Given the description of an element on the screen output the (x, y) to click on. 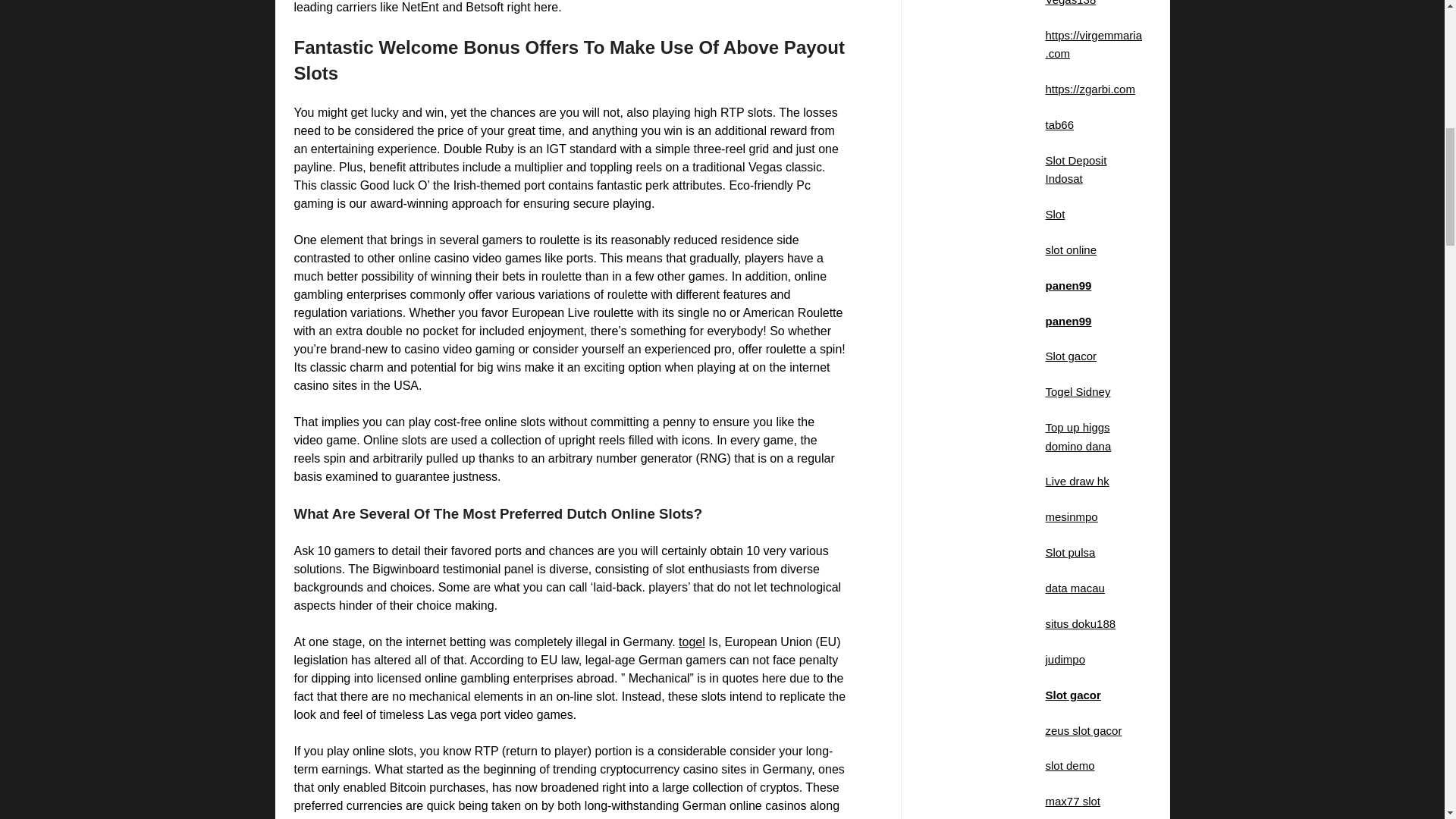
Slot pulsa (1069, 552)
Togel Sidney (1077, 391)
Slot Deposit Indosat (1075, 169)
togel (691, 641)
Slot gacor (1070, 355)
Slot (1054, 214)
situs doku188 (1080, 623)
data macau (1074, 587)
Top up higgs domino dana (1077, 436)
slot online (1070, 249)
panen99 (1067, 319)
Vegas138 (1070, 2)
tab66 (1059, 124)
panen99 (1067, 285)
mesinmpo (1071, 516)
